Given the description of an element on the screen output the (x, y) to click on. 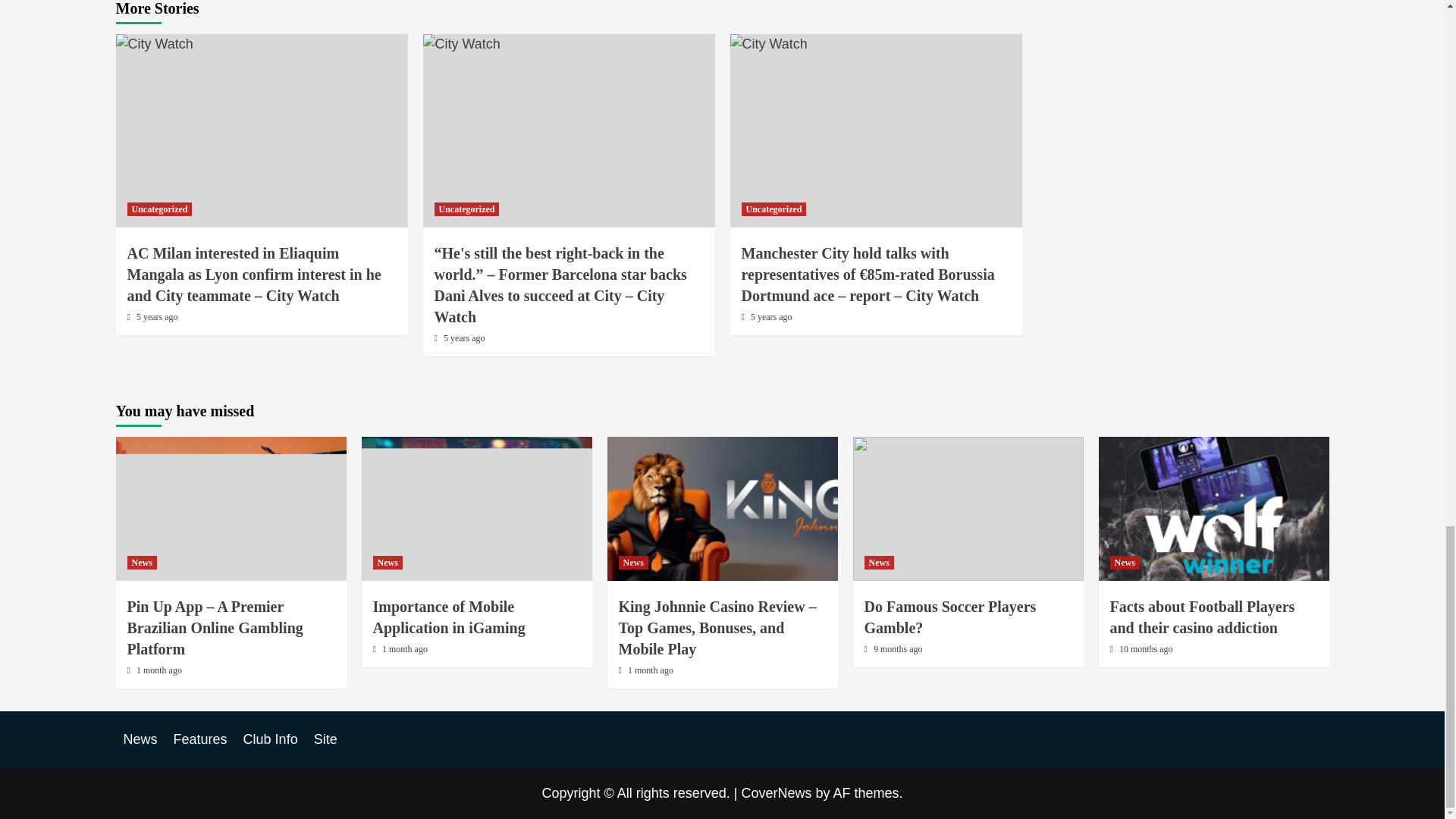
Uncategorized (160, 209)
5 years ago (156, 317)
